Given the description of an element on the screen output the (x, y) to click on. 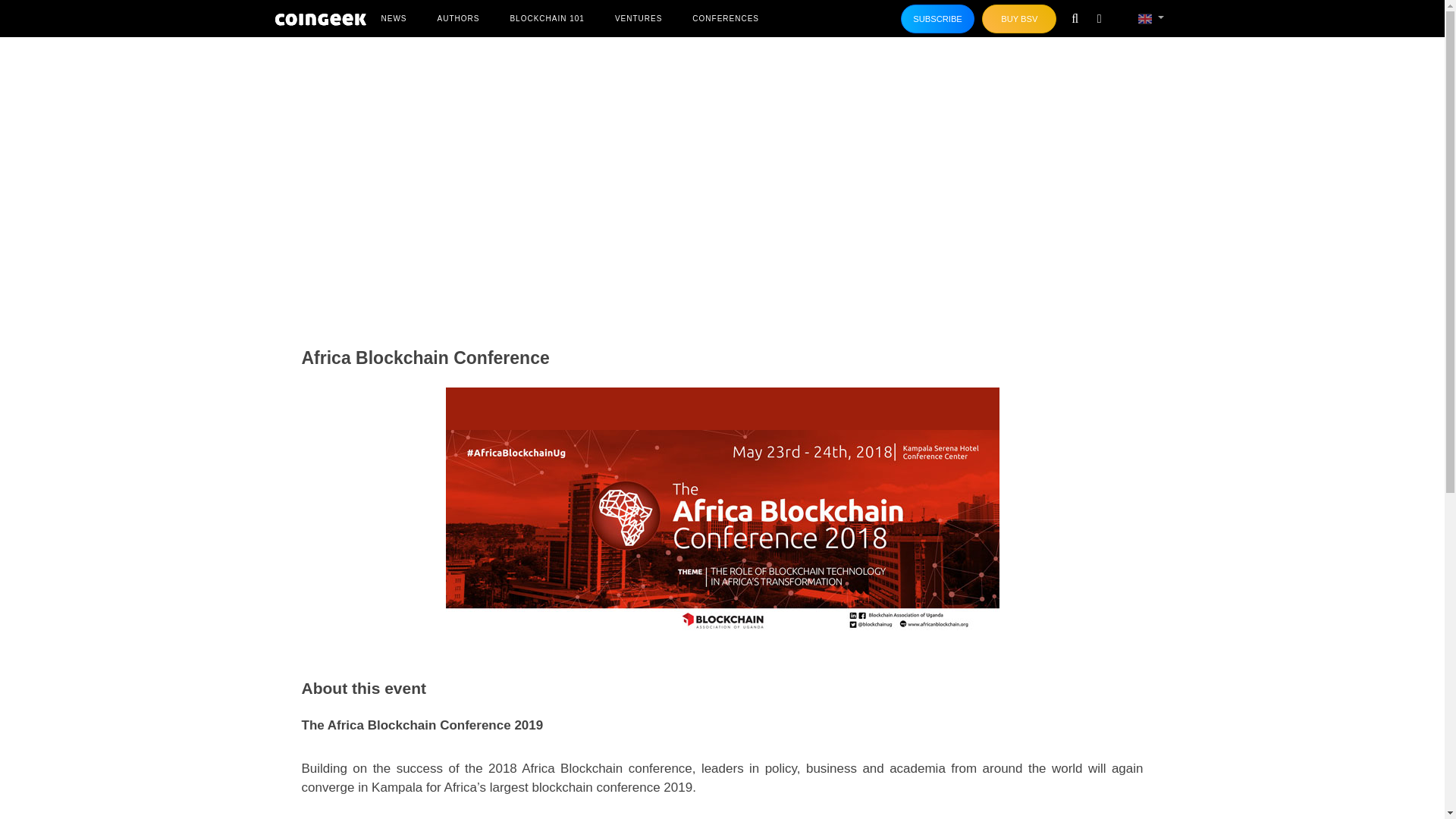
CONFERENCES (725, 18)
BLOCKCHAIN 101 (546, 18)
AUTHORS (457, 18)
NEWS (392, 18)
VENTURES (638, 18)
Never miss an update again! Subscribe to Newsletter! (938, 18)
BUY BSV (1019, 18)
SUBSCRIBE (938, 18)
